Given the description of an element on the screen output the (x, y) to click on. 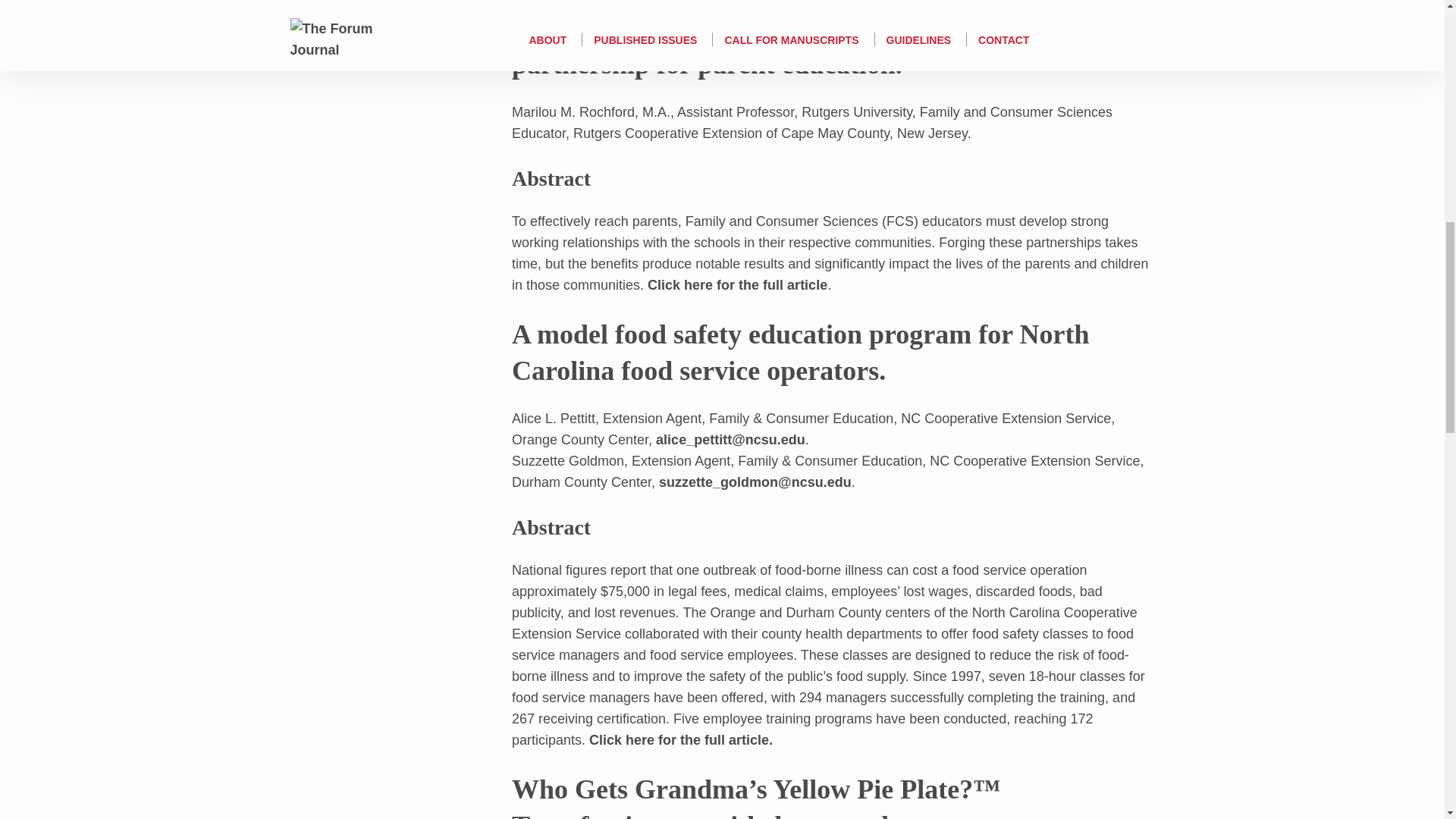
Click here for the full article. (681, 739)
Click here for the full article (737, 284)
